Given the description of an element on the screen output the (x, y) to click on. 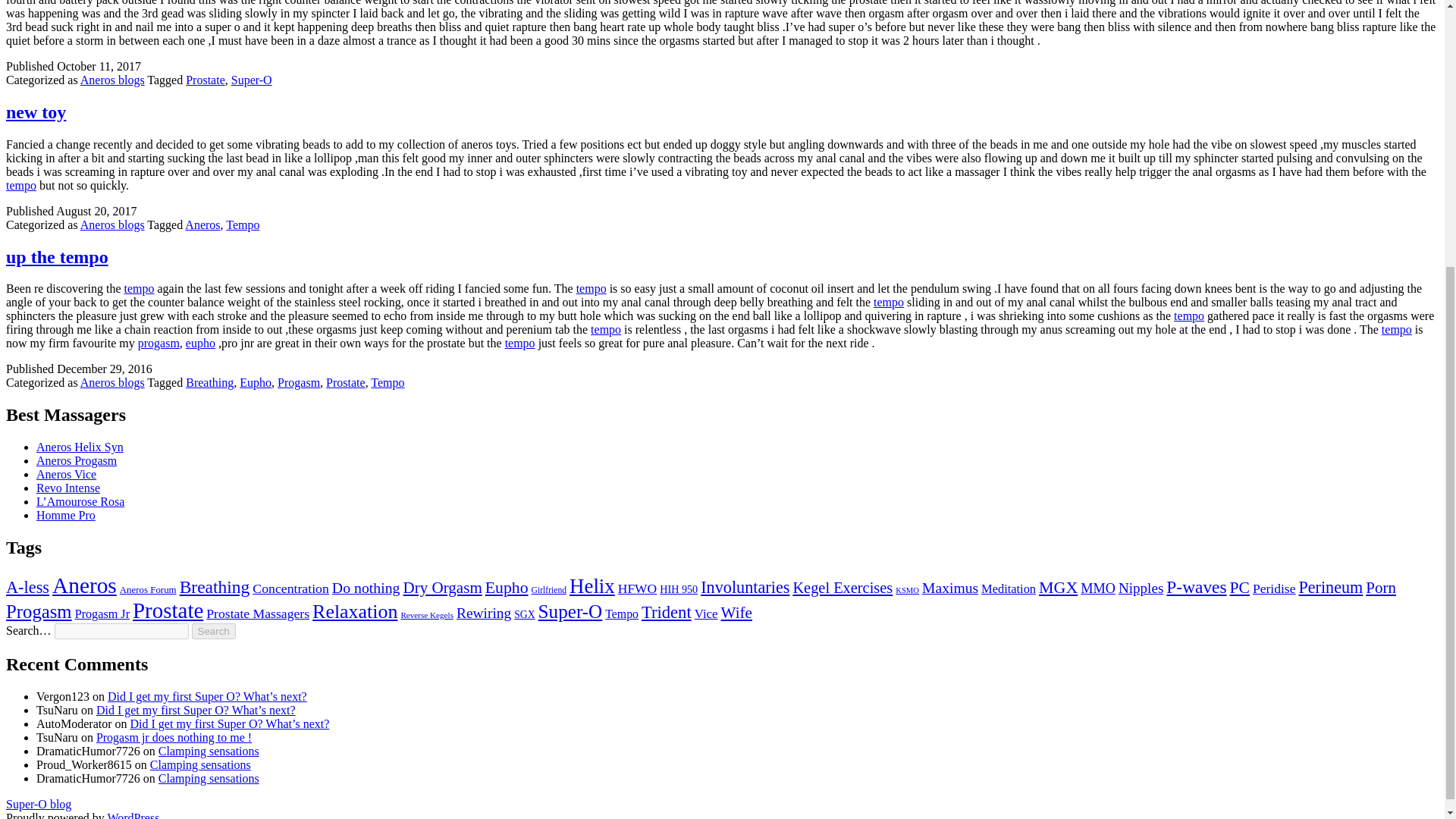
Tempo (242, 224)
tempo (520, 342)
Breathing (209, 382)
tempo (591, 287)
Find the best price (1396, 328)
Find the best price (20, 185)
new toy (35, 112)
Find the best price (591, 287)
Tempo (387, 382)
Find the best price (138, 287)
Find the best price (606, 328)
Find the best price (888, 301)
Search (213, 631)
Aneros (201, 224)
up the tempo (56, 256)
